Given the description of an element on the screen output the (x, y) to click on. 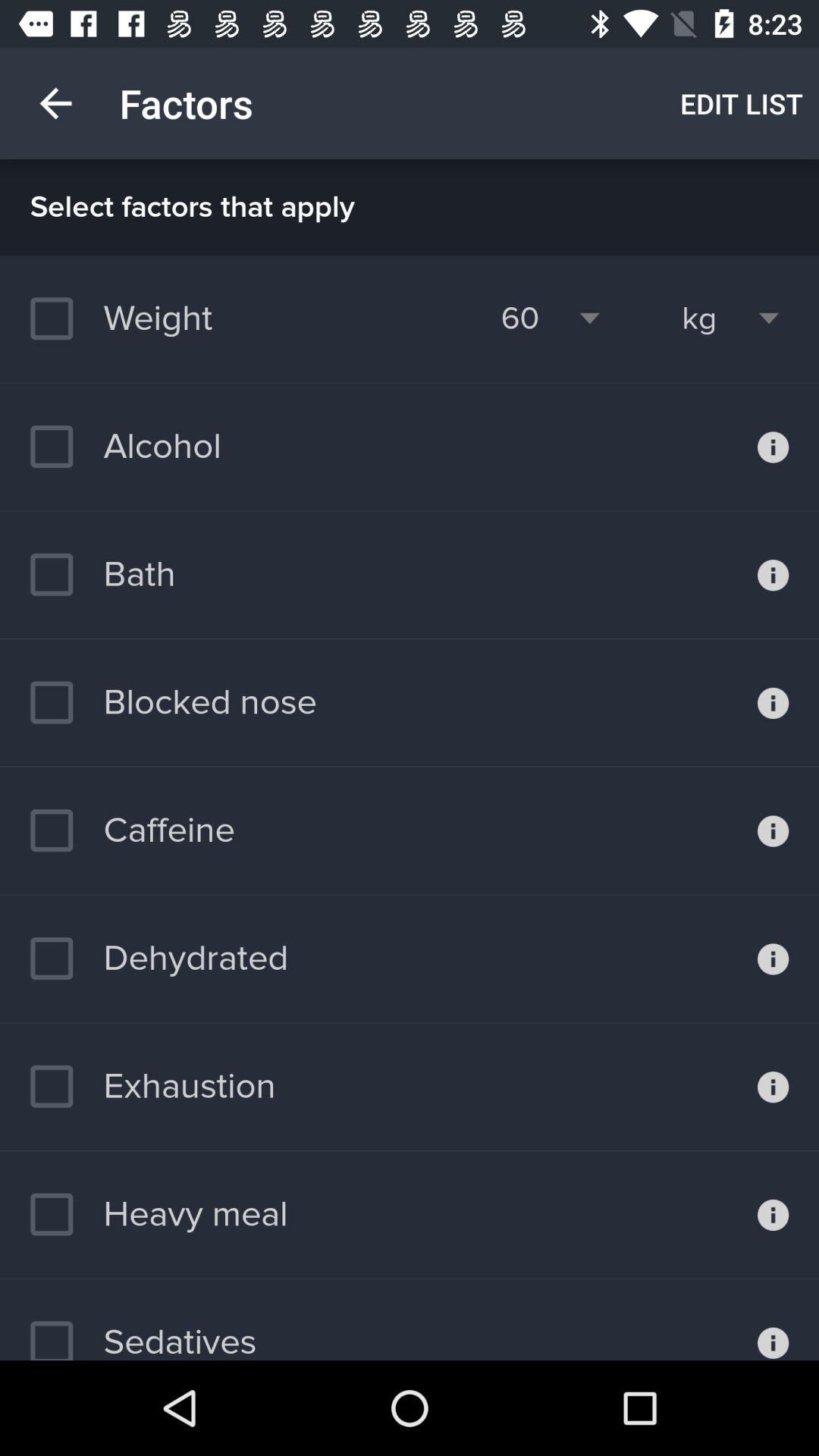
select the icon above select factors that icon (741, 103)
